Given the description of an element on the screen output the (x, y) to click on. 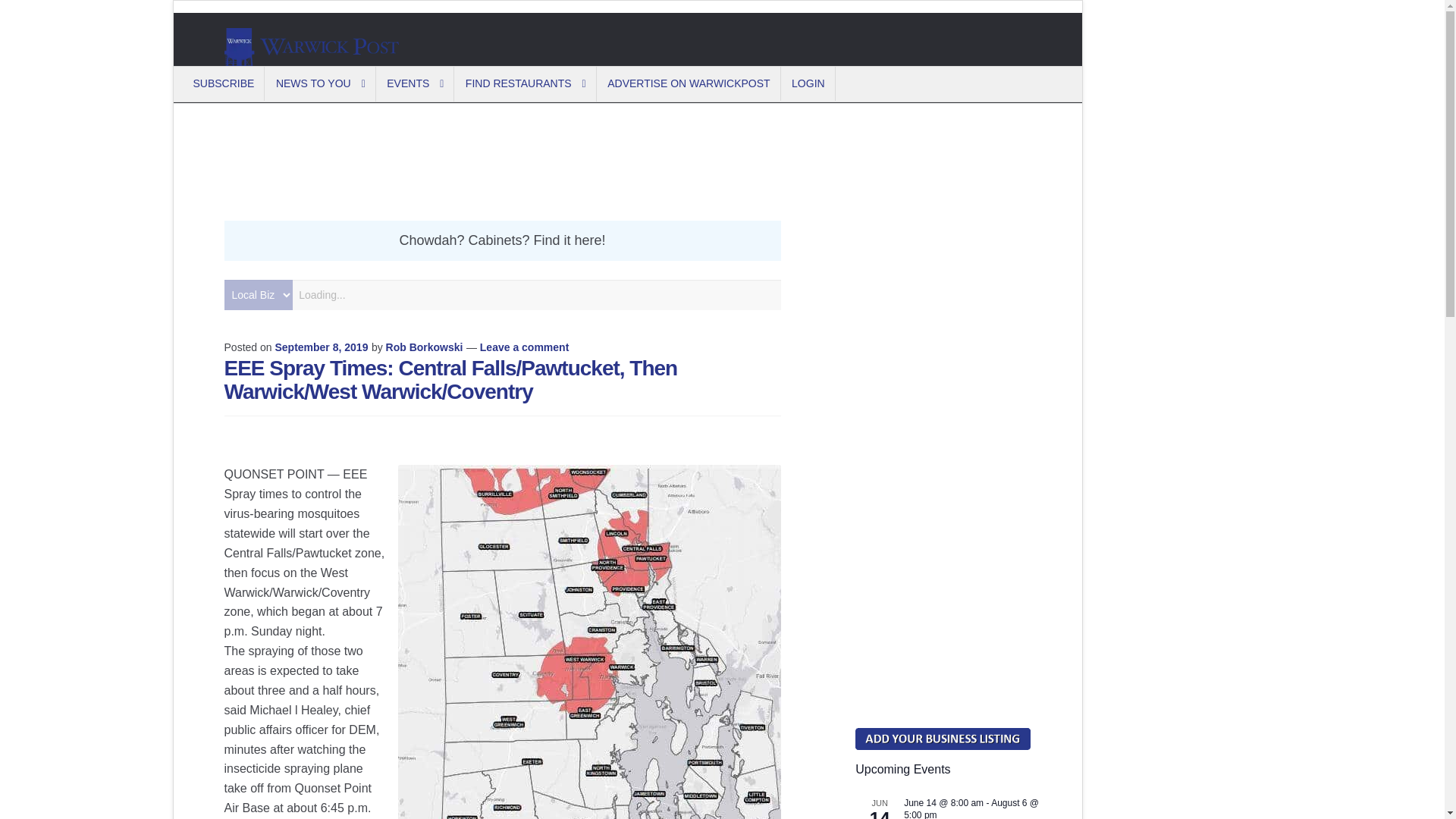
SUBSCRIBE (223, 83)
FIND RESTAURANTS (526, 83)
NEWS TO YOU (321, 83)
EVENTS (415, 83)
